Given the description of an element on the screen output the (x, y) to click on. 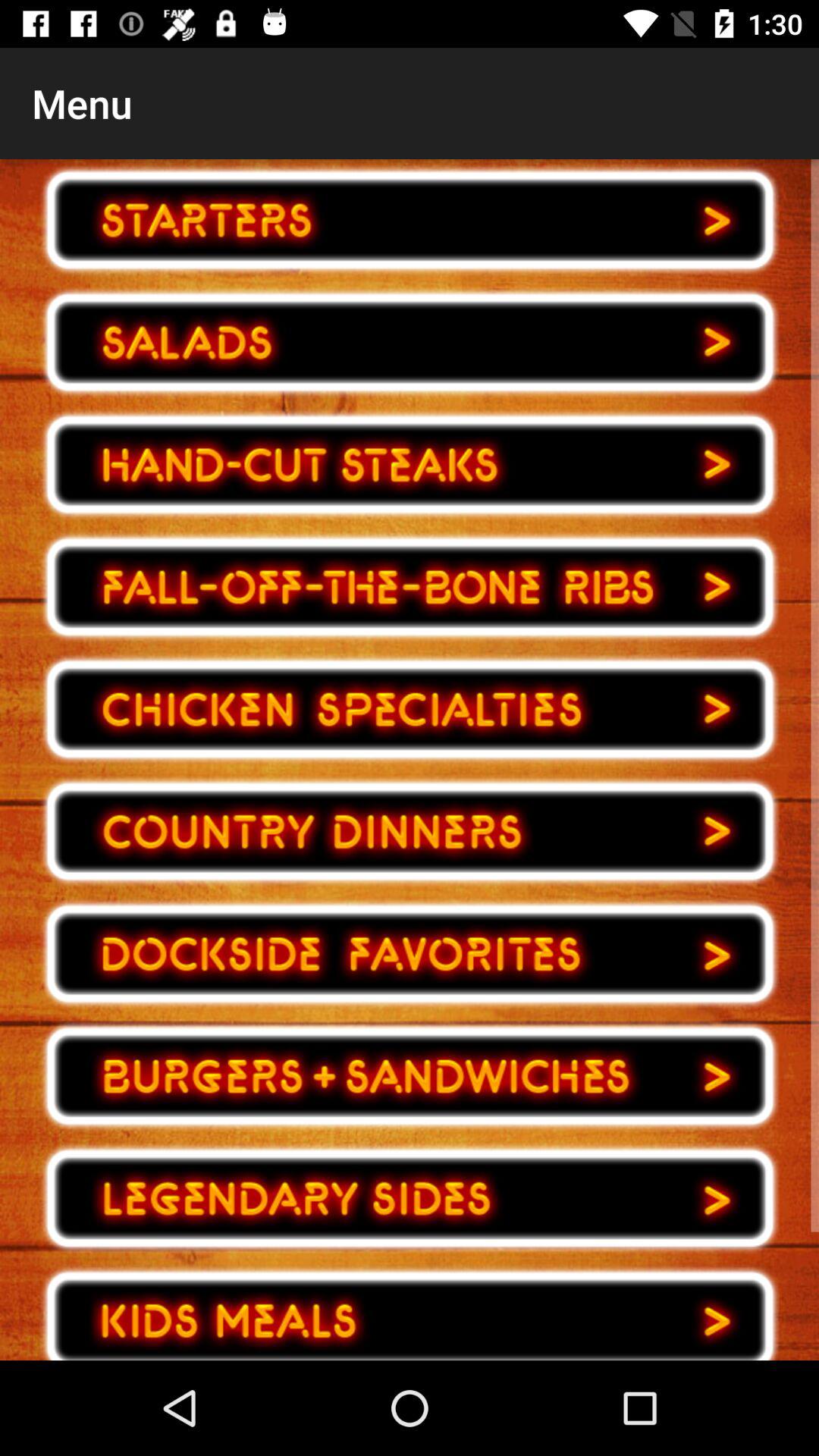
choose option (409, 953)
